Given the description of an element on the screen output the (x, y) to click on. 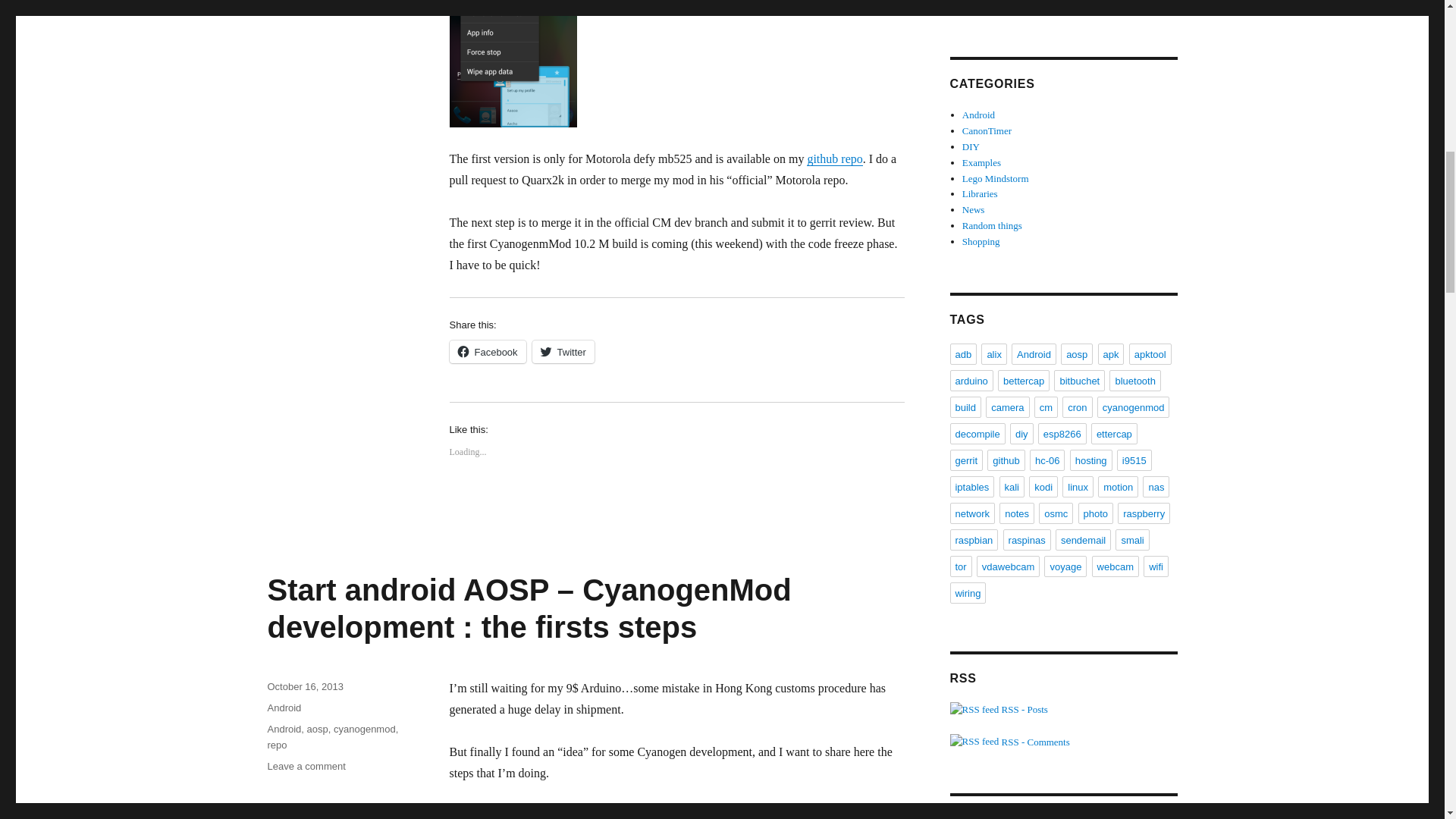
Android (283, 728)
October 16, 2013 (304, 686)
Facebook (486, 351)
cyanogenmod (364, 728)
Android (283, 707)
Subscribe to comments (1008, 741)
github repo (833, 158)
Subscribe to posts (997, 708)
repo (276, 745)
aosp (318, 728)
